Given the description of an element on the screen output the (x, y) to click on. 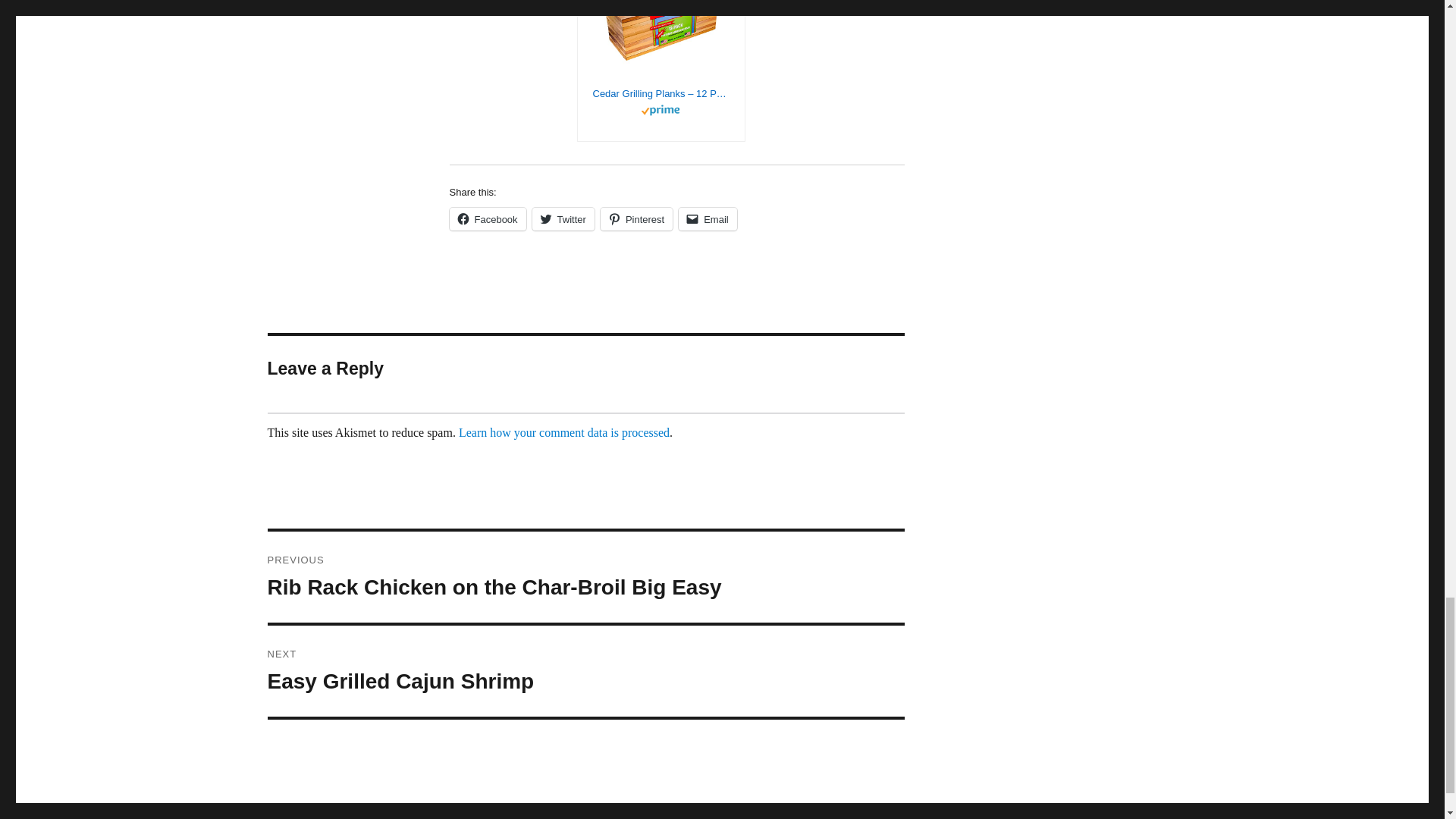
Twitter (563, 219)
Pinterest (635, 219)
Cedar Grilling Planks - 12 Pack (660, 93)
Click to share on Pinterest (635, 219)
Click to share on Facebook (486, 219)
Facebook (486, 219)
Click to email a link to a friend (707, 219)
Click to share on Twitter (563, 219)
